Given the description of an element on the screen output the (x, y) to click on. 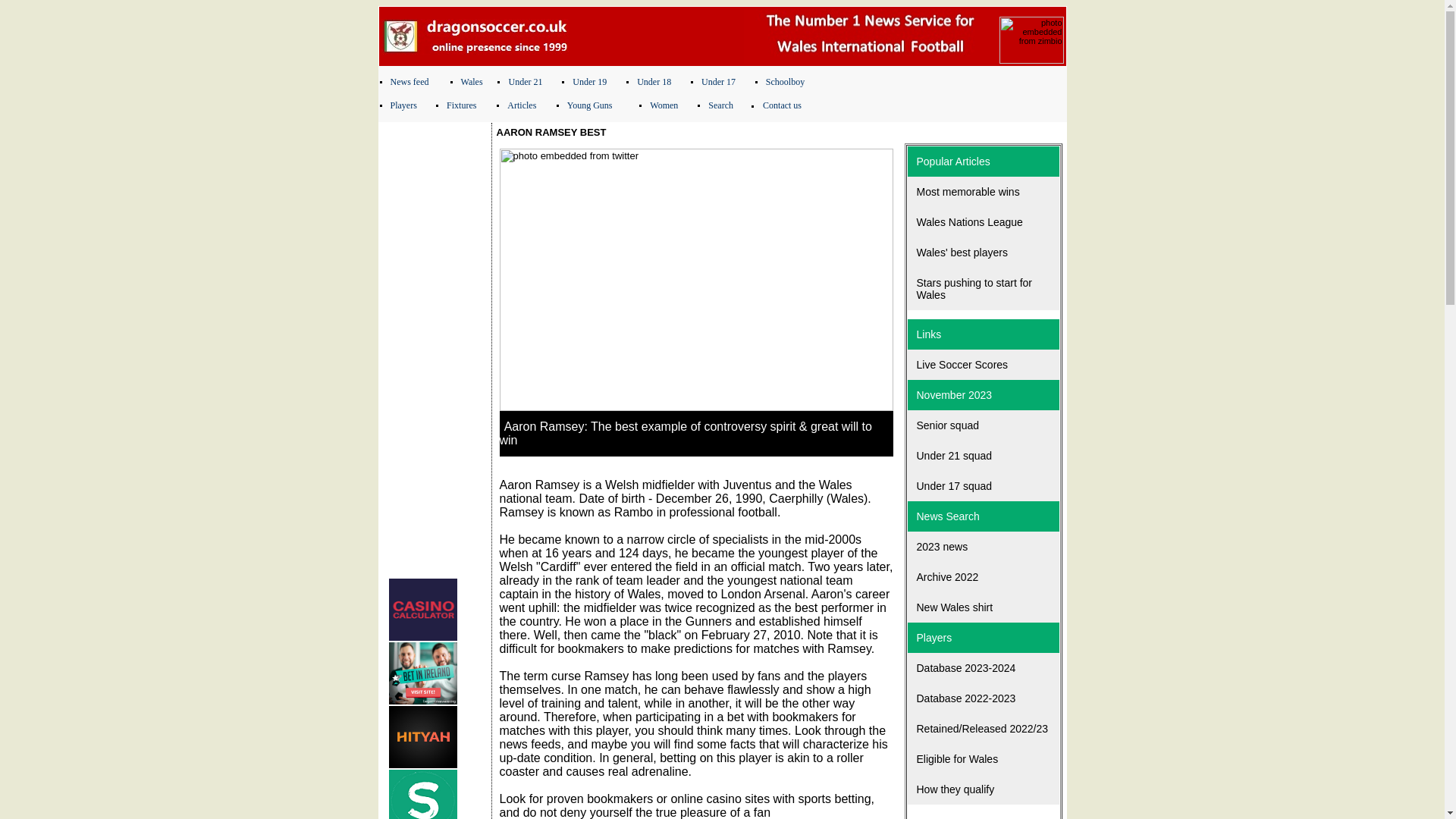
Fixtures (461, 104)
Under 21 (524, 81)
photo embedded from twitter (695, 279)
Search (720, 104)
News feed (409, 81)
Under 18 (654, 81)
Young Guns (589, 104)
Under 19 (589, 81)
Articles (520, 104)
Players (403, 104)
Schoolboy (785, 81)
Contact us (782, 104)
photo embedded from zimbio (1031, 39)
Women (663, 104)
Popular Articles (982, 161)
